Given the description of an element on the screen output the (x, y) to click on. 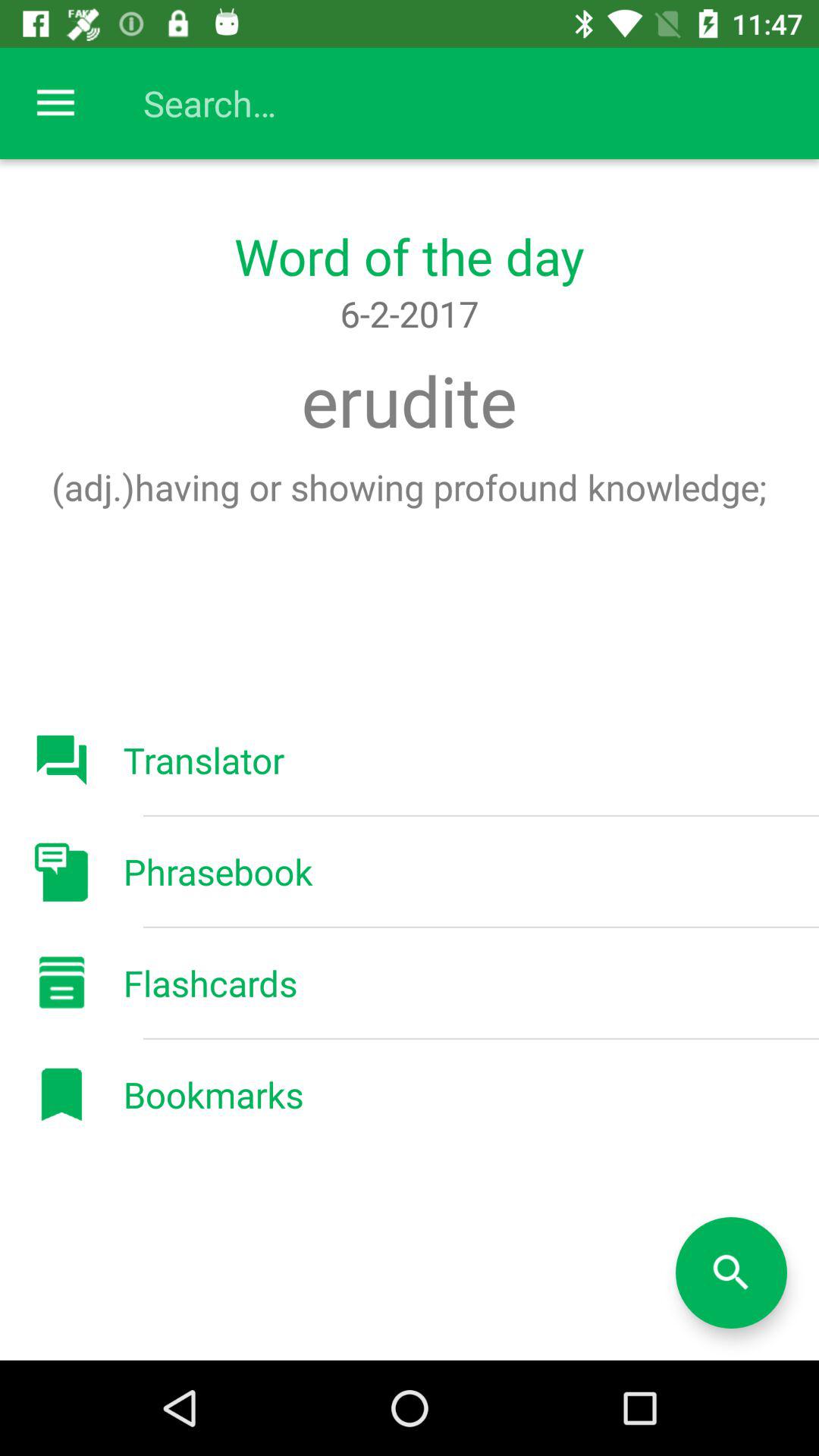
flip until flashcards (210, 982)
